Given the description of an element on the screen output the (x, y) to click on. 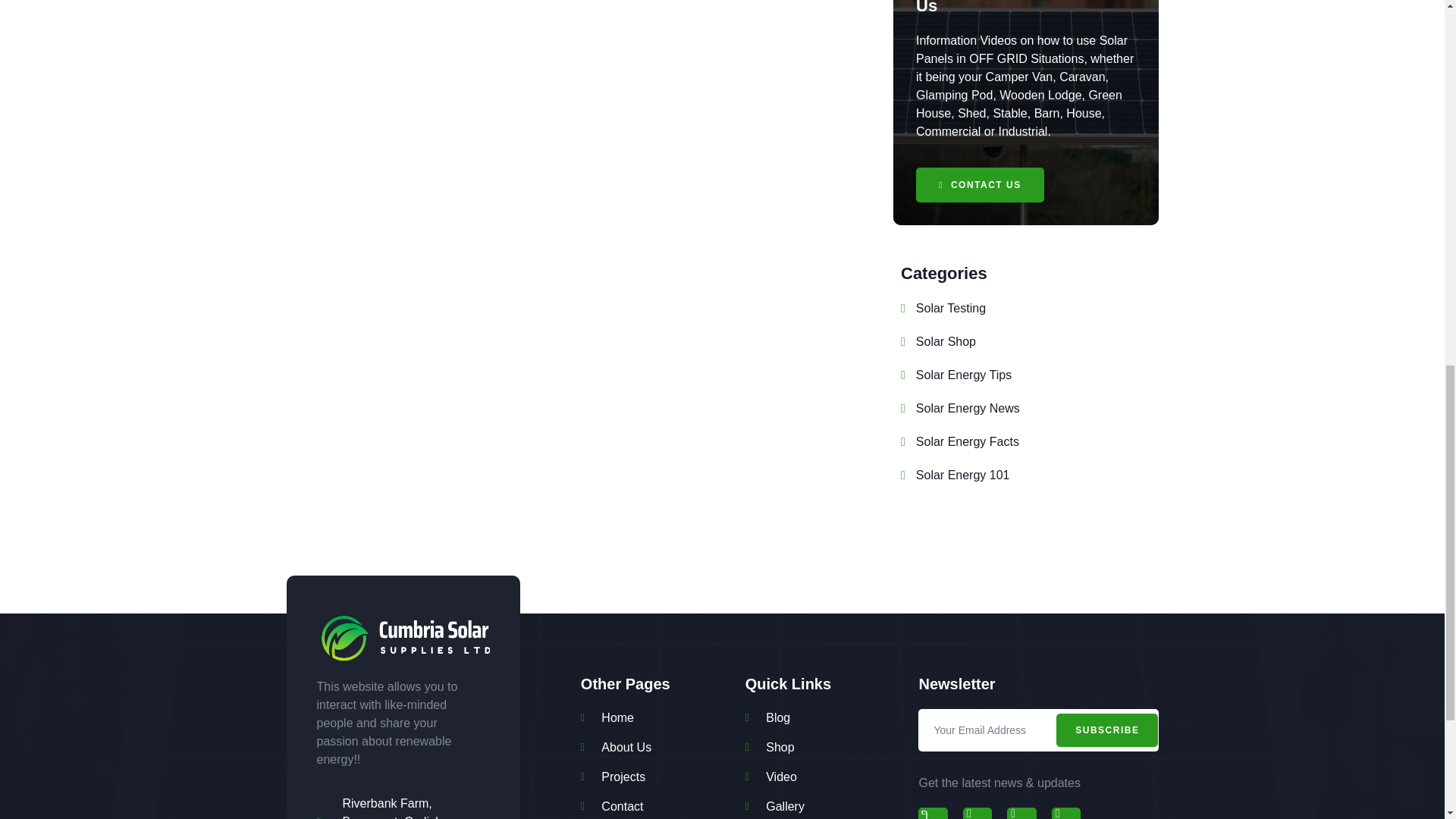
Solar Energy 101 (955, 475)
Solar Energy Tips (956, 375)
Solar Energy News (960, 408)
Solar Energy Facts (960, 442)
CONTACT US (979, 184)
Solar Shop (938, 341)
Solar Testing (943, 308)
